Given the description of an element on the screen output the (x, y) to click on. 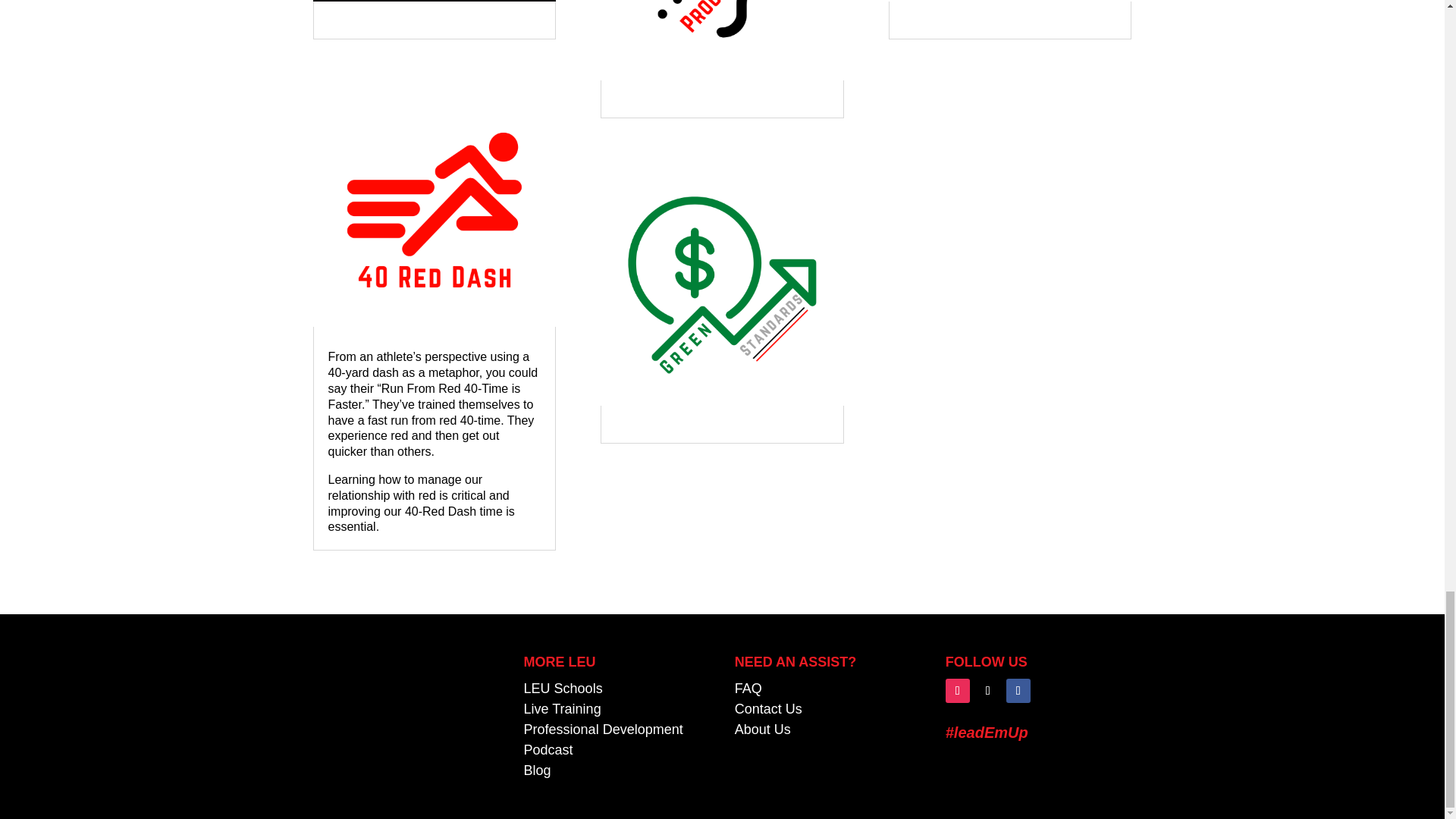
Lead 'Em Up Professional Development (603, 729)
Lead 'Em Up Live Training (562, 708)
About Lead 'Em Up (762, 729)
Lead 'Em Up Podscat (548, 749)
Follow on Instagram (956, 690)
Follow on Facebook (1018, 690)
Follow on Twitter (987, 690)
Lead 'Em Up Schools (563, 688)
Lead 'Em Up FAQ (748, 688)
Lead 'Em Up Blog (537, 770)
